Given the description of an element on the screen output the (x, y) to click on. 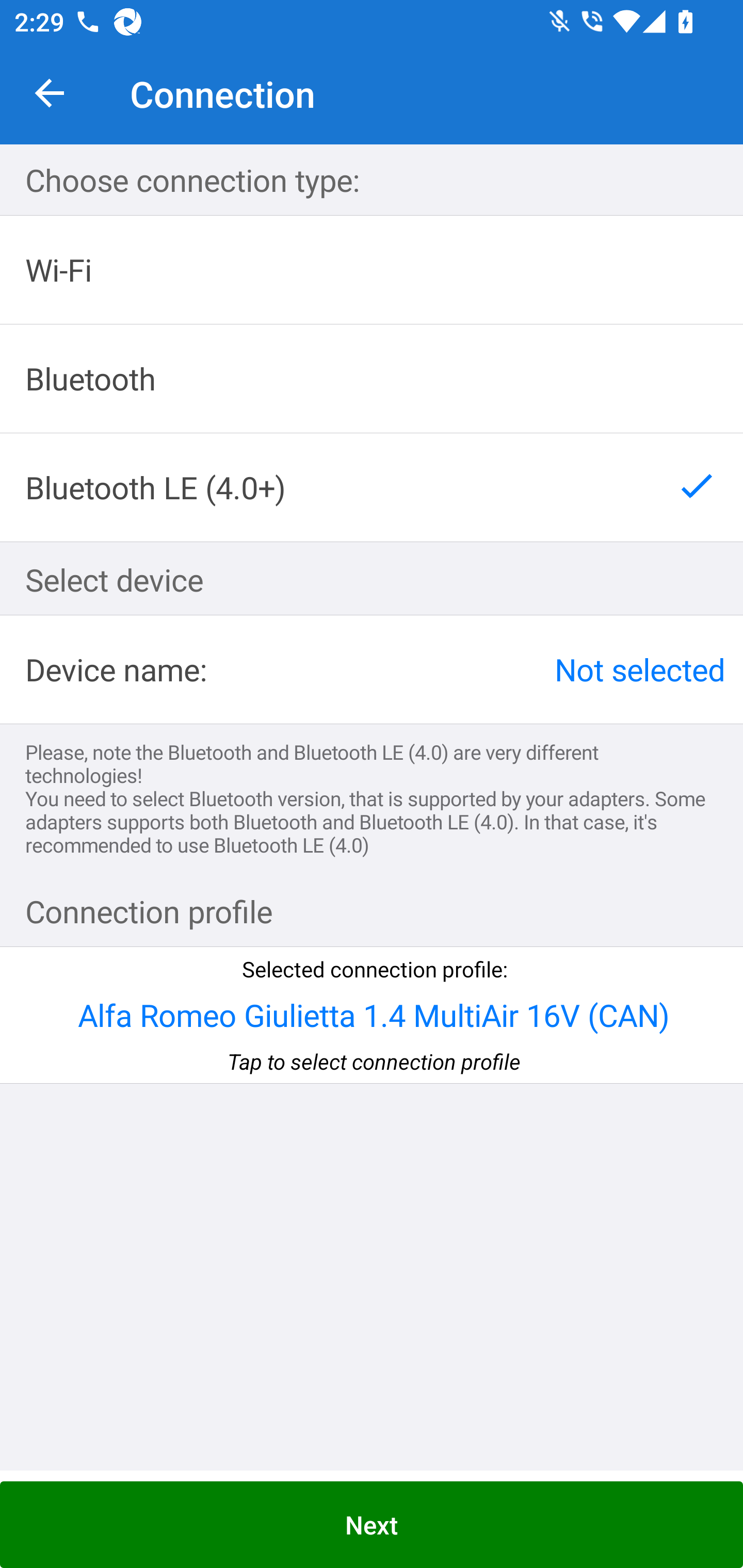
Wi-Fi (371, 270)
Bluetooth (371, 378)
Bluetooth LE (4.0+) (371, 486)
Device name: Not selected (371, 669)
Next (371, 1524)
